Given the description of an element on the screen output the (x, y) to click on. 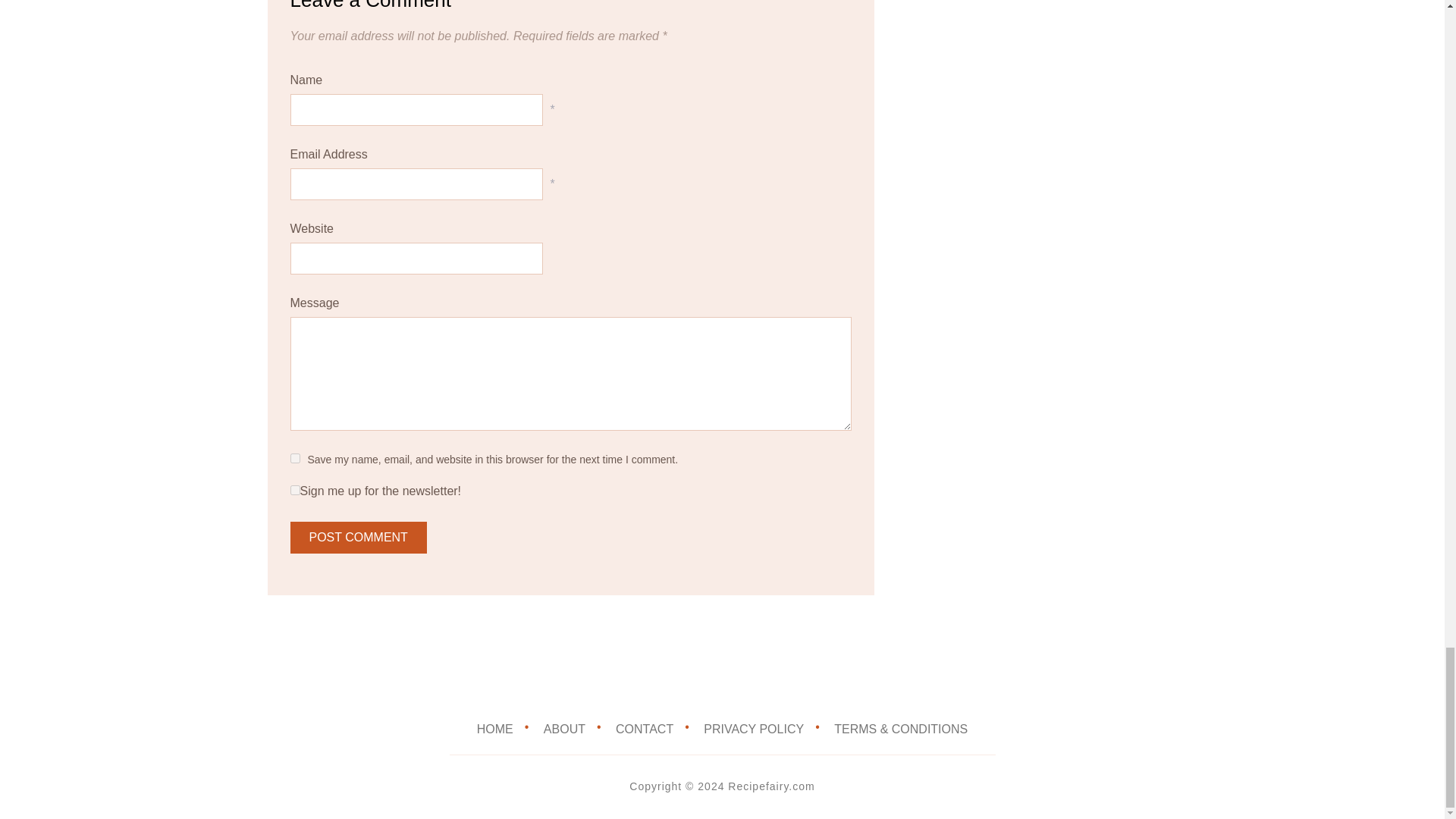
Post Comment (357, 537)
1 (294, 490)
yes (294, 458)
